Given the description of an element on the screen output the (x, y) to click on. 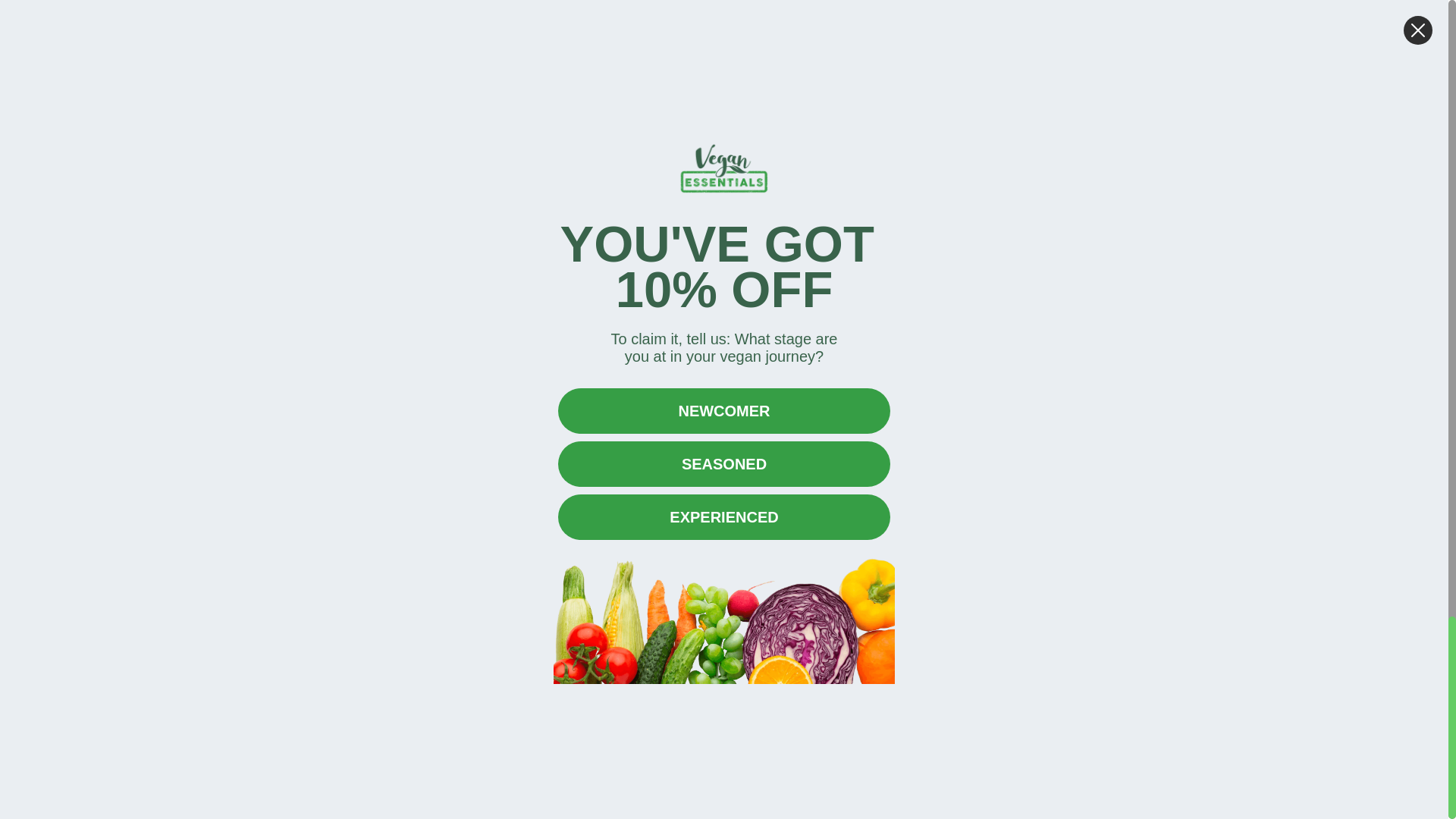
SUBSCRIBE (1128, 539)
